Given the description of an element on the screen output the (x, y) to click on. 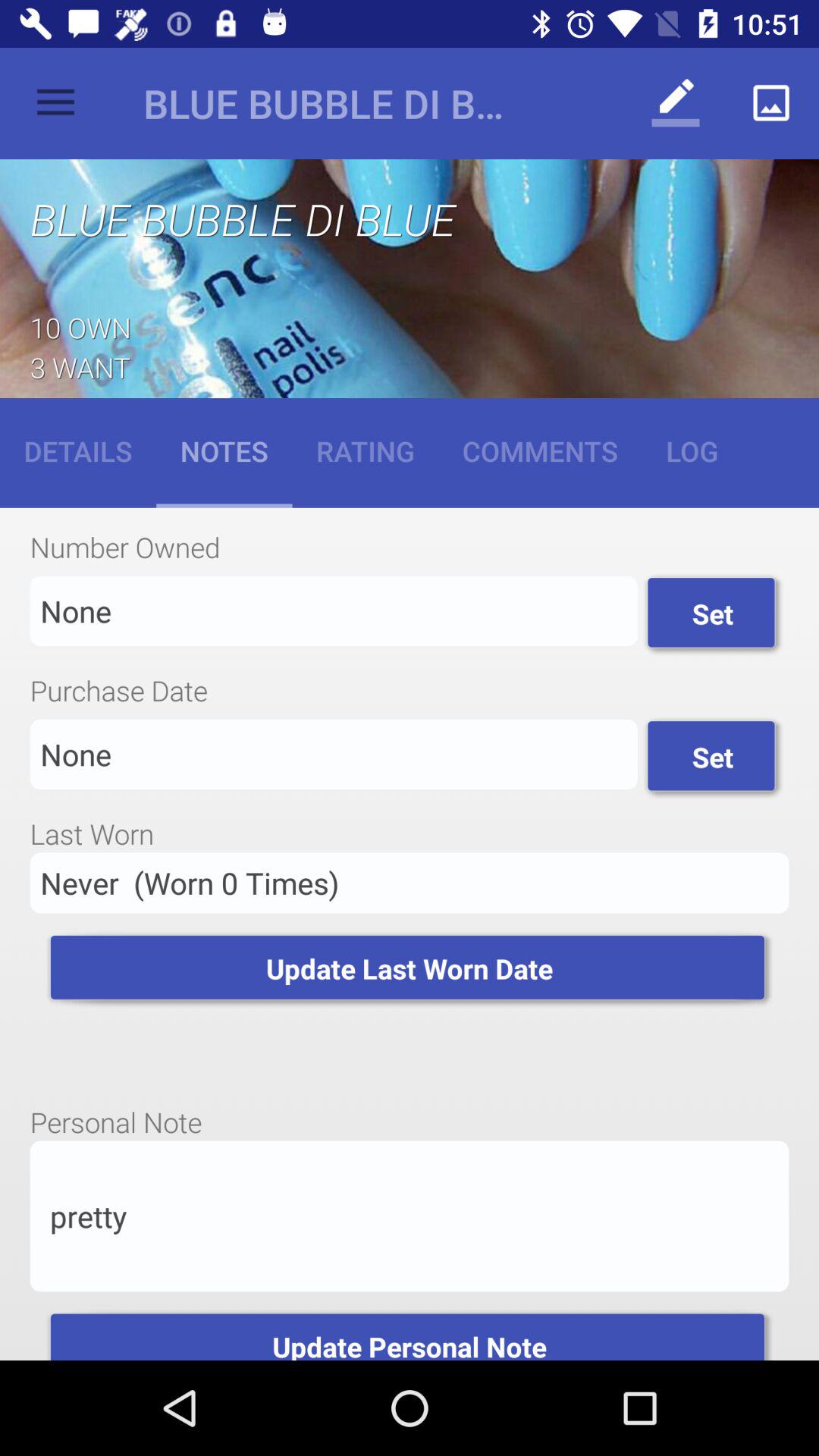
choose the icon next to the blue bubble di icon (55, 102)
